Given the description of an element on the screen output the (x, y) to click on. 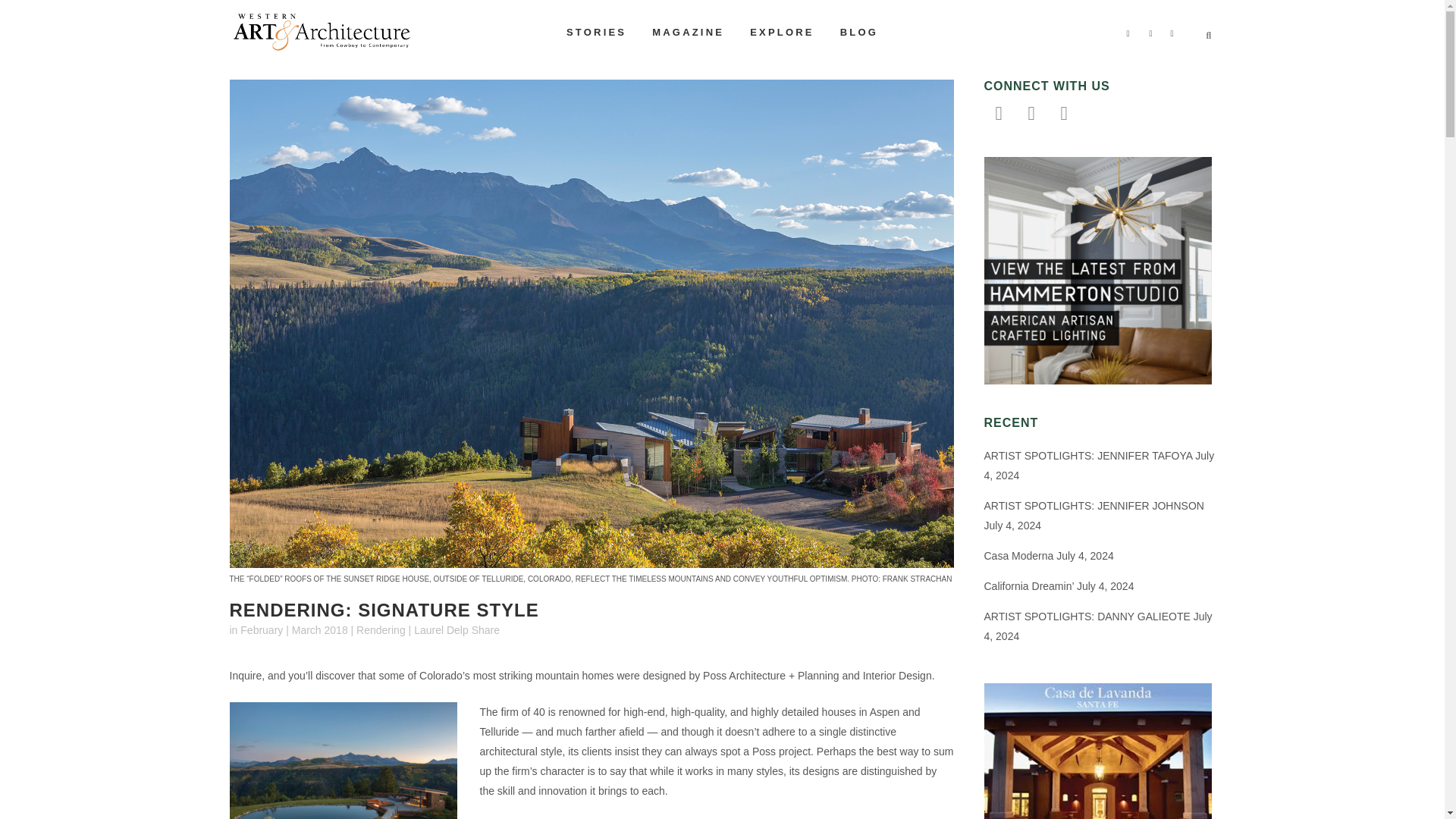
EXPLORE (781, 32)
STORIES (596, 32)
BLOG (859, 32)
MAGAZINE (687, 32)
